Given the description of an element on the screen output the (x, y) to click on. 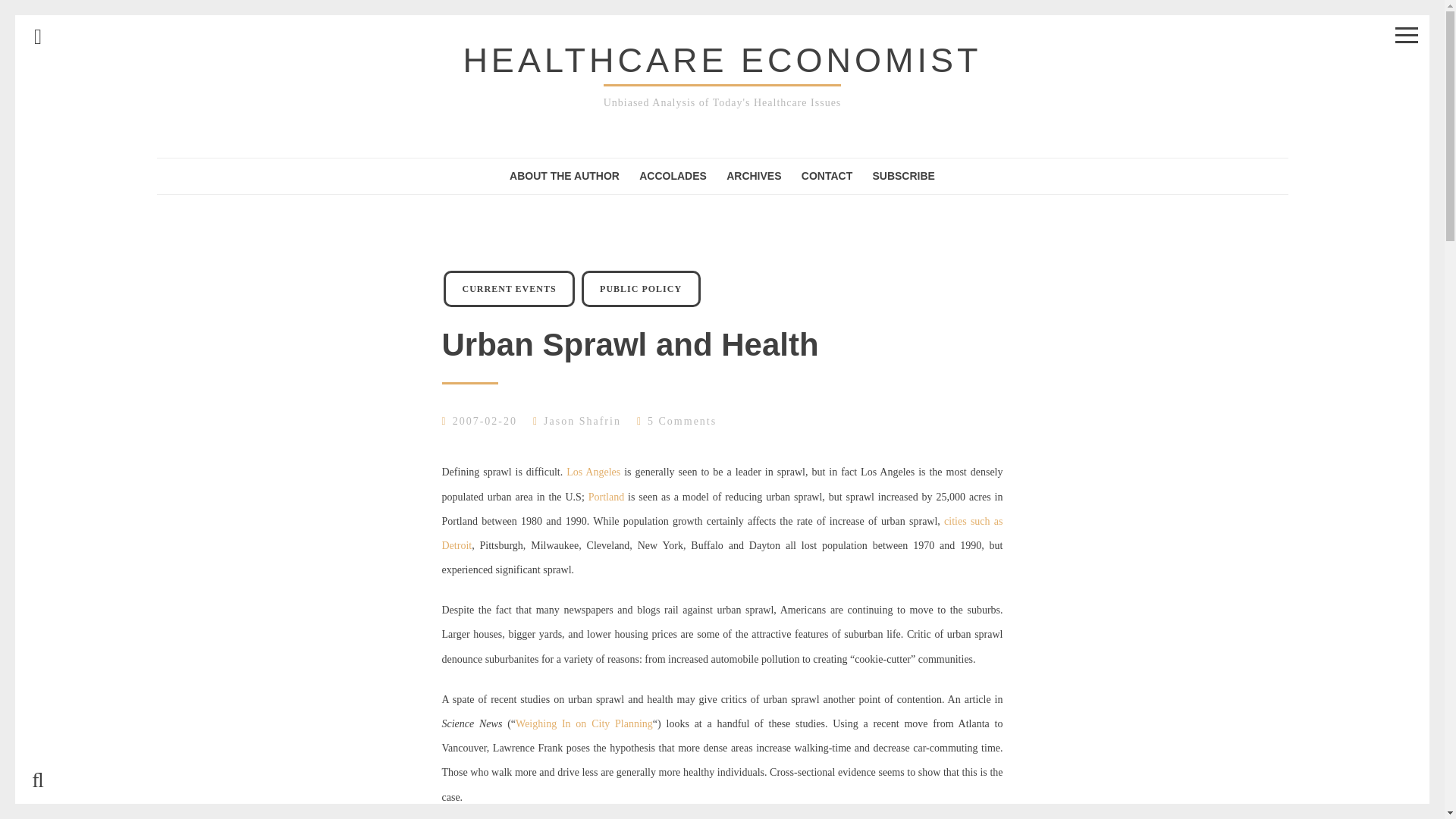
ARCHIVES (753, 175)
Los Angeles (593, 471)
cities such as Detroit (722, 533)
ABOUT THE AUTHOR (563, 175)
CURRENT EVENTS (509, 289)
HEALTHCARE ECONOMIST (722, 59)
Portland (606, 496)
SUBSCRIBE (903, 175)
Jason Shafrin (582, 420)
The L.A. Smart Growth Model (593, 471)
Outcome of Portland Experiment still uncertain (606, 496)
2007-02-20 (484, 420)
ACCOLADES (672, 175)
5 Comments (681, 420)
